Given the description of an element on the screen output the (x, y) to click on. 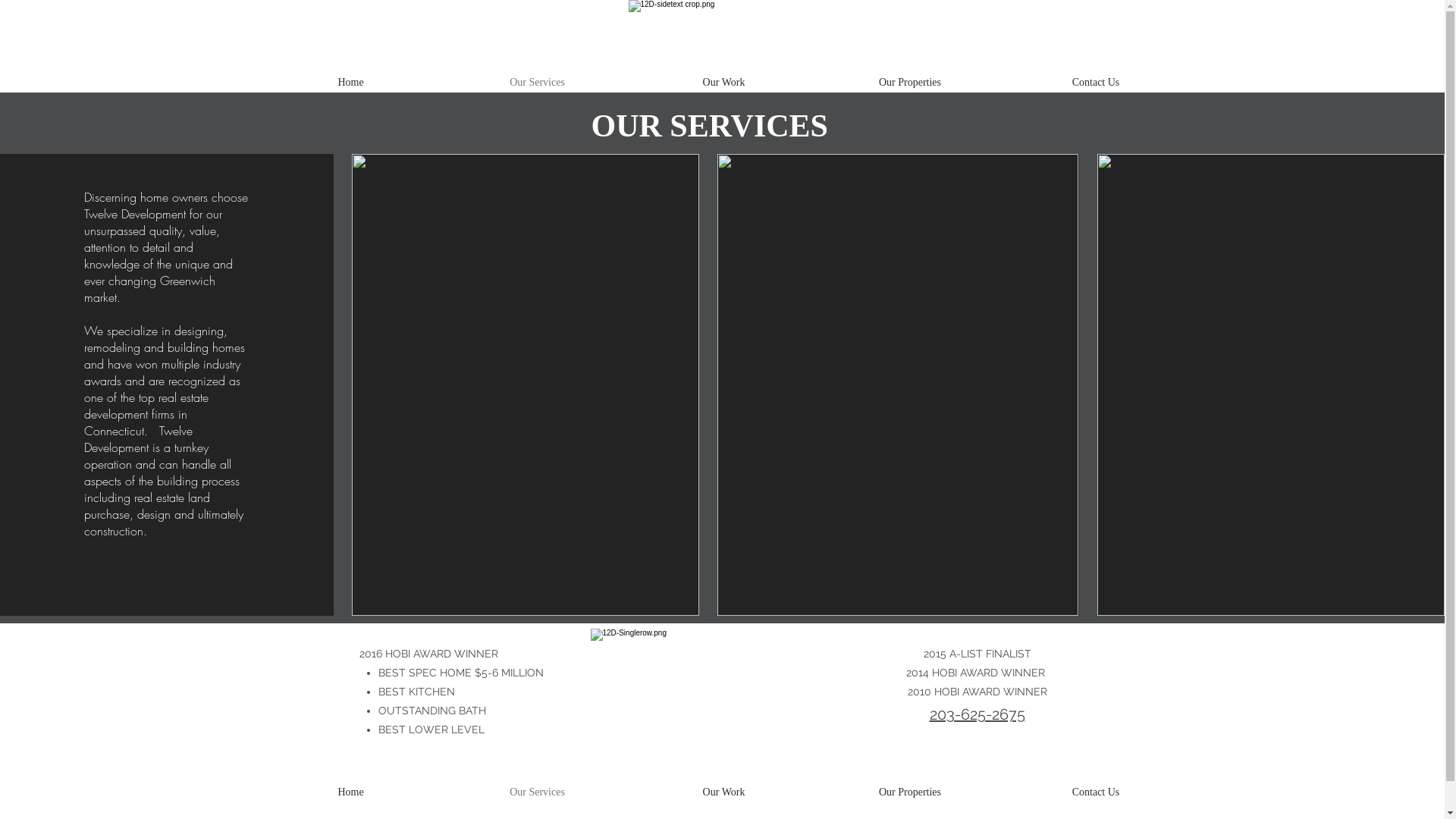
Our Work Element type: text (723, 792)
Our Properties Element type: text (910, 792)
203-625-2675 Element type: text (977, 714)
Contact Us Element type: text (1095, 792)
Our Services Element type: text (537, 792)
Contact Us Element type: text (1095, 82)
Our Properties Element type: text (910, 82)
Home Element type: text (350, 82)
Home Element type: text (350, 792)
Our Services Element type: text (537, 82)
Our Work Element type: text (723, 82)
